Given the description of an element on the screen output the (x, y) to click on. 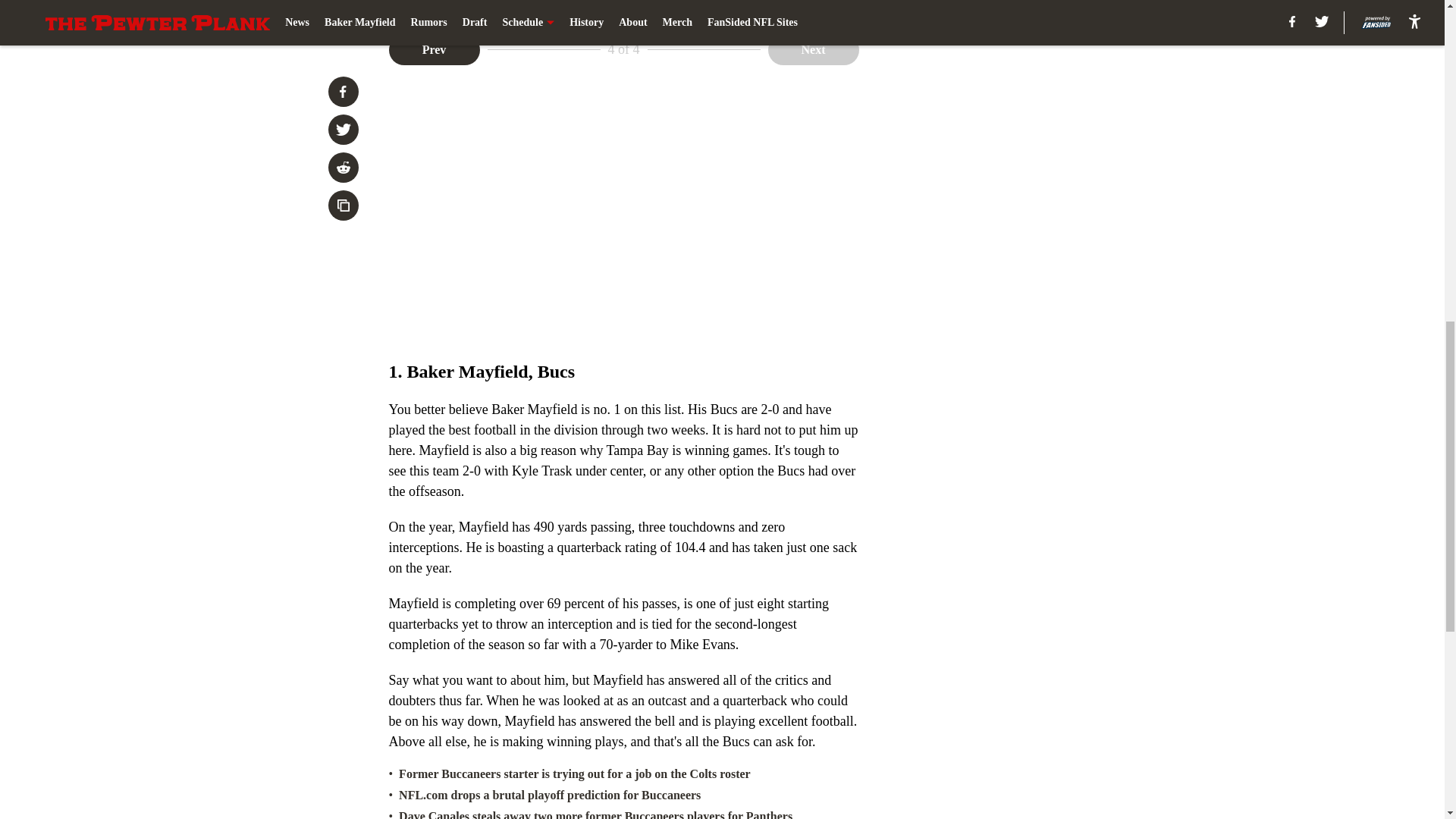
NFL.com drops a brutal playoff prediction for Buccaneers (549, 795)
Prev (433, 50)
Next (813, 50)
